Given the description of an element on the screen output the (x, y) to click on. 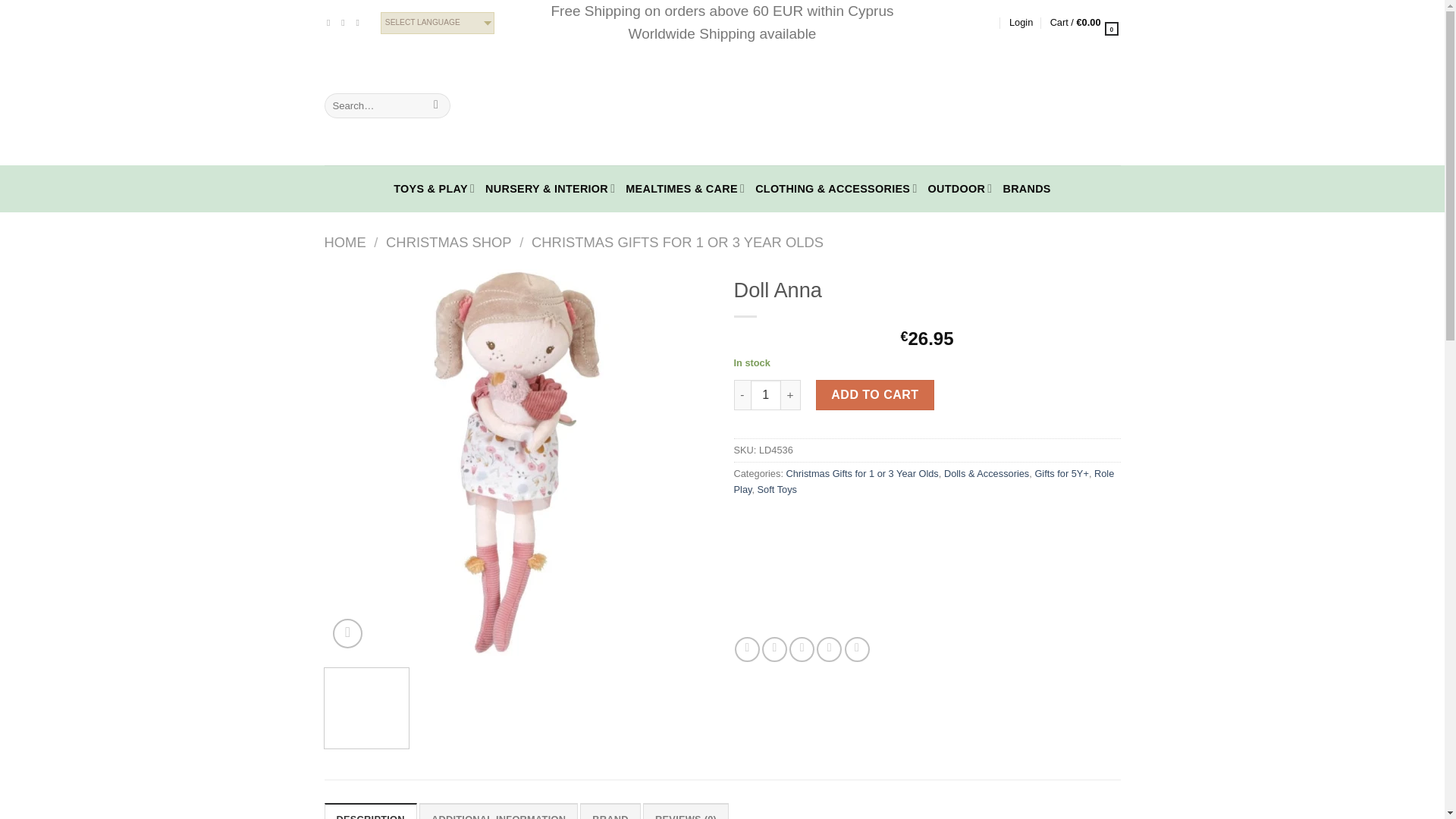
Share on Twitter (774, 649)
Email to a Friend (801, 649)
1 (765, 395)
Cart (1085, 22)
Pin on Pinterest (828, 649)
SELECT LANGUAGE (437, 22)
Zoom (347, 633)
Little Dutch (790, 580)
Share on Facebook (747, 649)
Share on LinkedIn (856, 649)
